Given the description of an element on the screen output the (x, y) to click on. 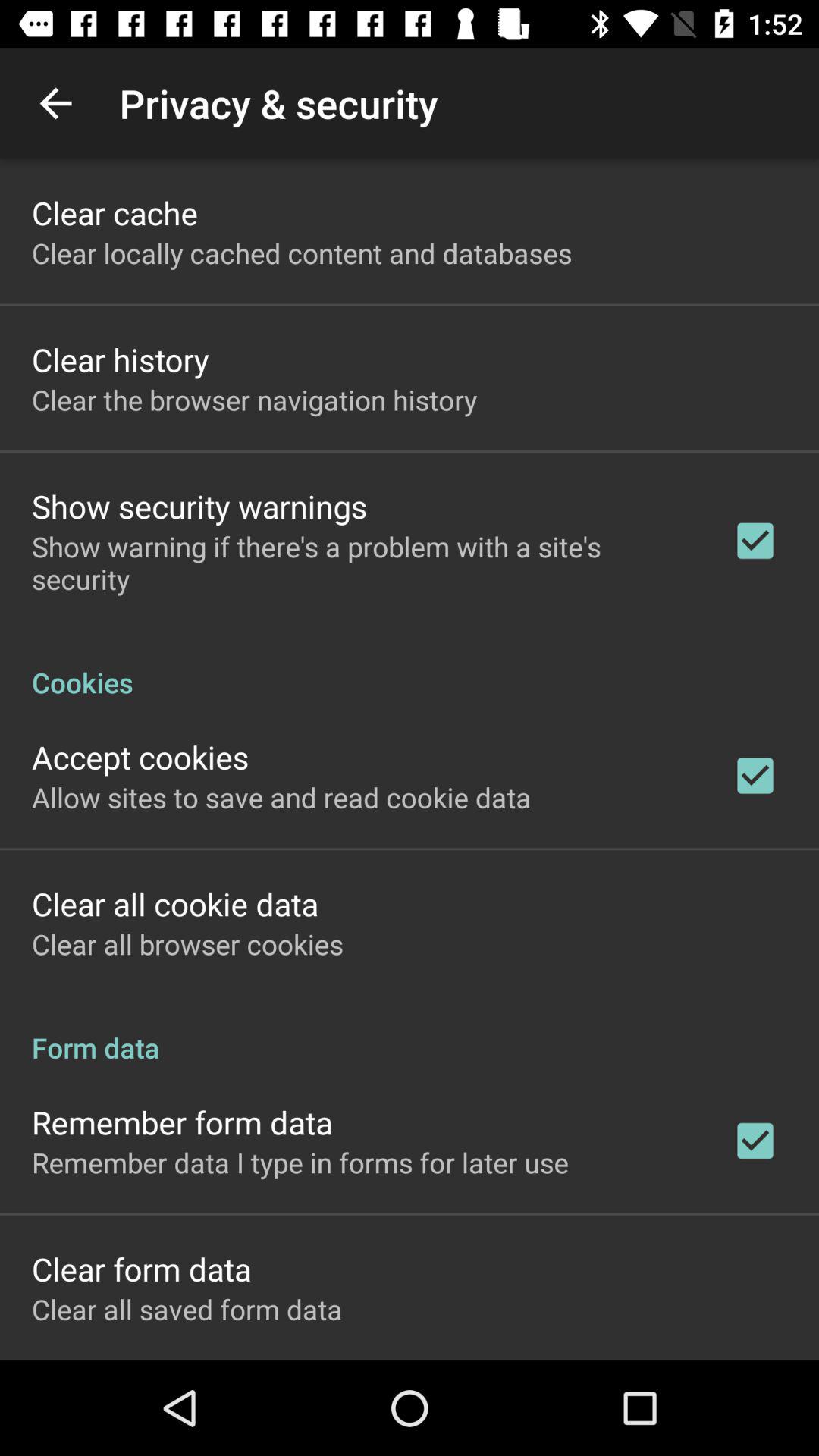
launch clear cache icon (114, 212)
